Given the description of an element on the screen output the (x, y) to click on. 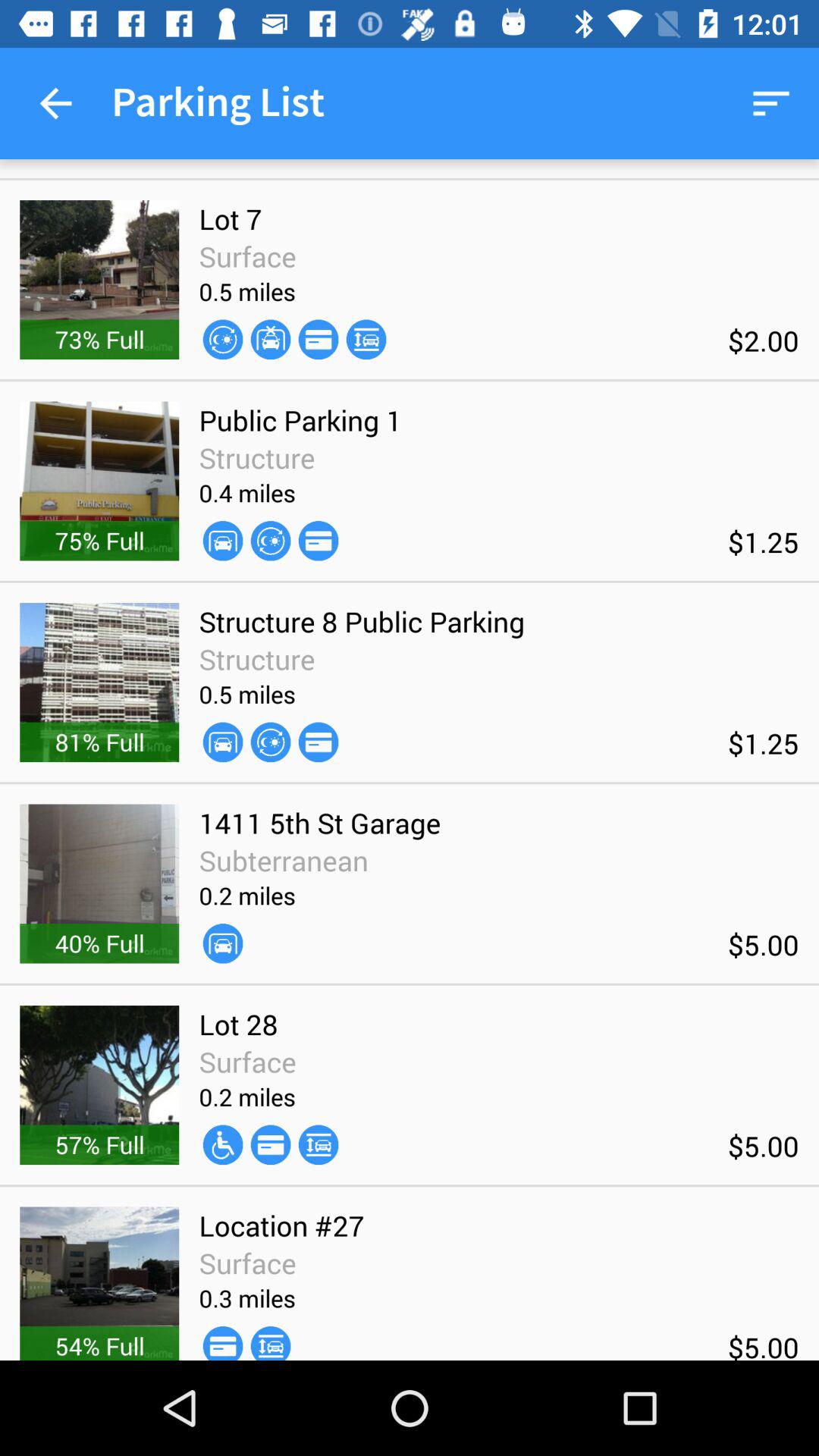
tap icon below the 0.2 miles icon (222, 1144)
